Given the description of an element on the screen output the (x, y) to click on. 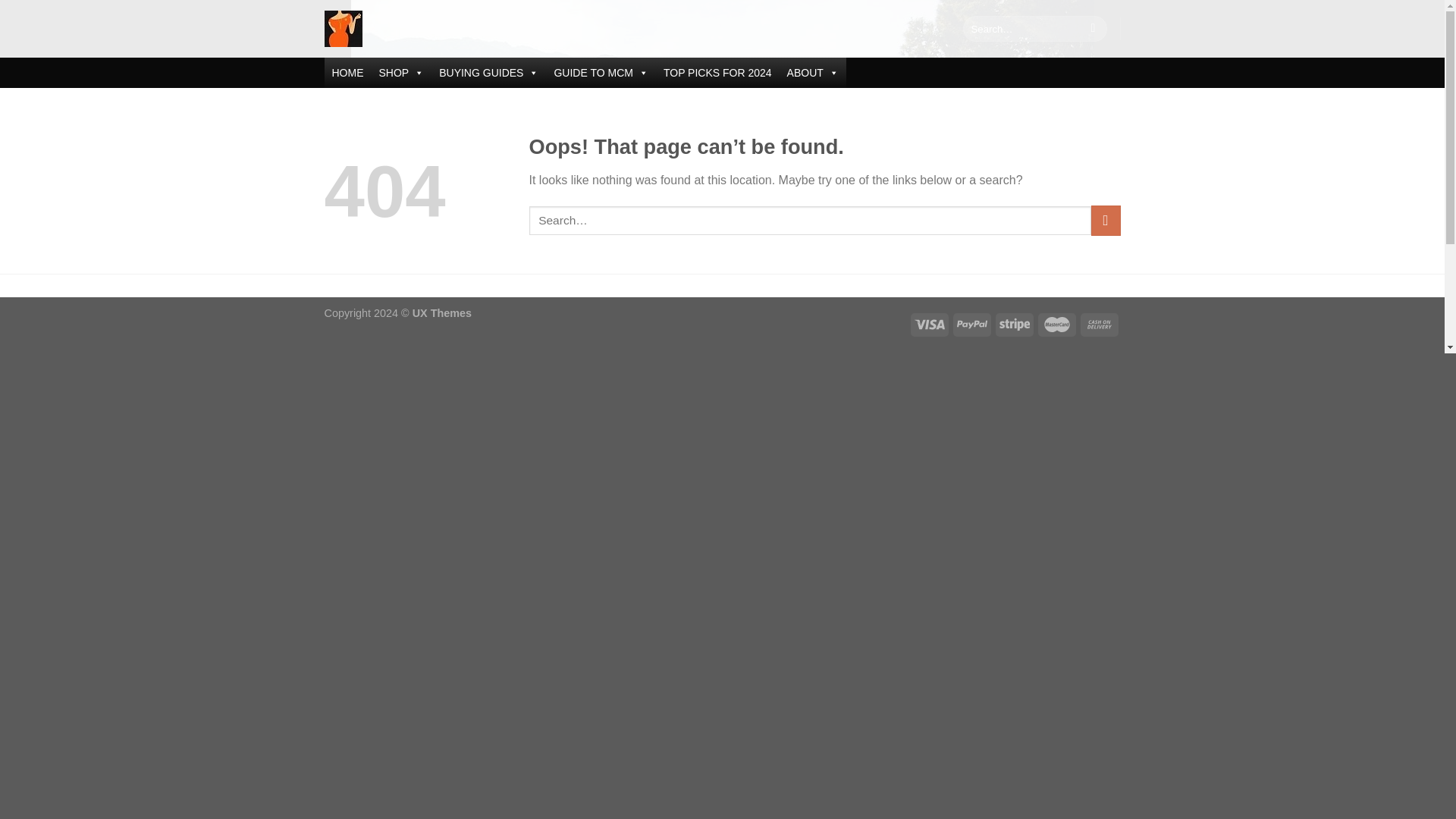
SHOP (401, 72)
Search (1092, 28)
HOME (347, 72)
